Given the description of an element on the screen output the (x, y) to click on. 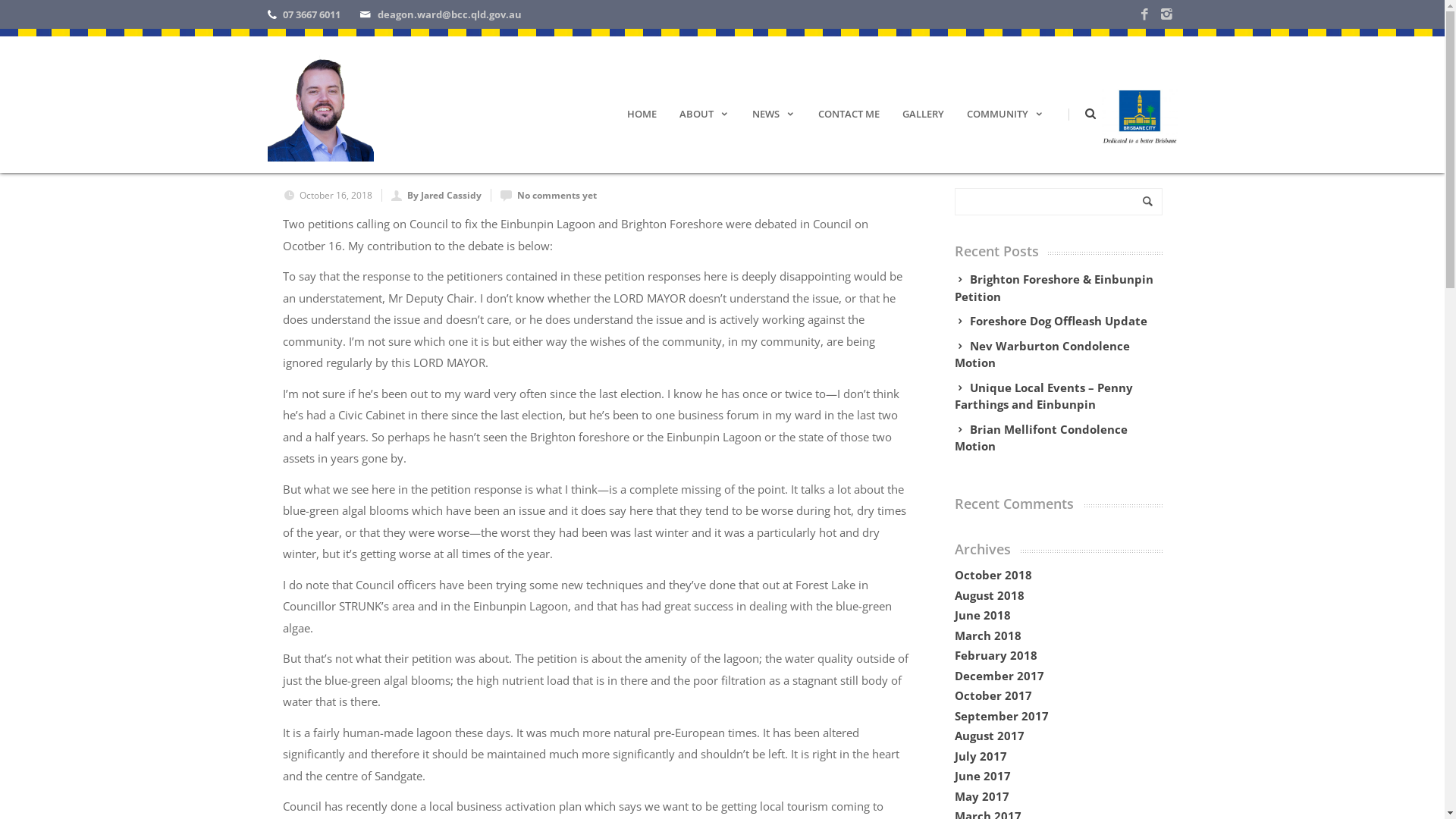
Instagram Element type: hover (1166, 14)
Nev Warburton Condolence Motion Element type: text (1057, 354)
June 2017 Element type: text (981, 775)
COMMUNITY Element type: text (1005, 111)
No comments yet Element type: text (556, 194)
GALLERY Element type: text (922, 111)
September 2017 Element type: text (1000, 715)
February 2018 Element type: text (994, 654)
NEWS Element type: text (773, 111)
March 2018 Element type: text (986, 635)
December 2017 Element type: text (998, 675)
August 2018 Element type: text (988, 594)
October 2017 Element type: text (992, 694)
CONTACT ME Element type: text (848, 111)
deagon.ward@bcc.qld.gov.au Element type: text (449, 14)
Brighton Foreshore & Einbunpin Petition Element type: text (1057, 287)
By Jared Cassidy Element type: text (443, 194)
| Element type: text (1064, 111)
May 2017 Element type: text (980, 795)
June 2018 Element type: text (981, 614)
Brian Mellifont Condolence Motion Element type: text (1057, 437)
Search Element type: text (722, 15)
July 2017 Element type: text (979, 755)
August 2017 Element type: text (988, 735)
Facebook Element type: hover (1143, 14)
HOME Element type: text (641, 111)
07 3667 6011 Element type: text (310, 14)
October 2018 Element type: text (992, 574)
ABOUT Element type: text (703, 111)
Foreshore Dog Offleash Update Element type: text (1054, 321)
